Given the description of an element on the screen output the (x, y) to click on. 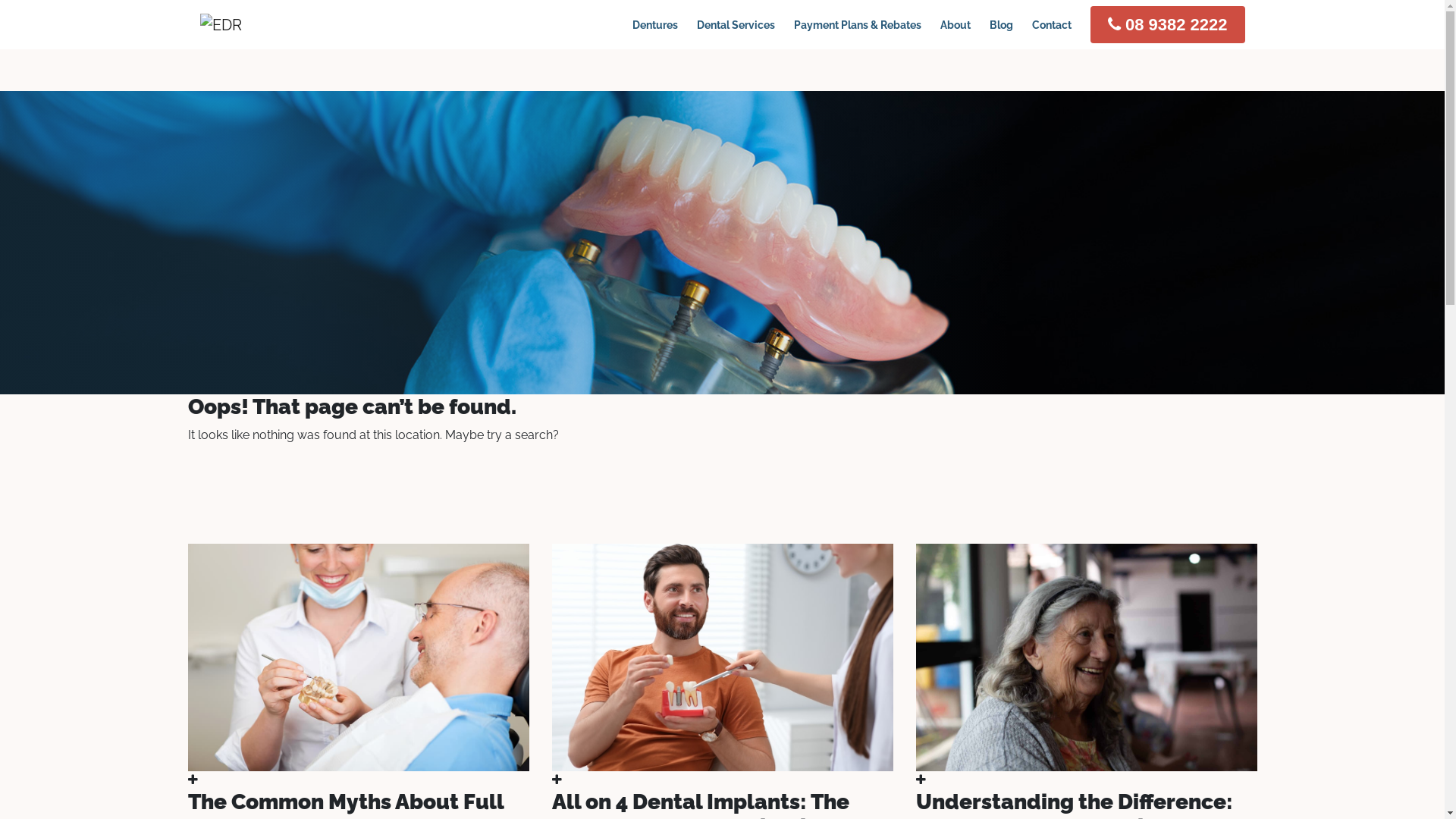
Contact Element type: text (1051, 24)
Payment Plans & Rebates Element type: text (857, 24)
08 9382 2222 Element type: text (1167, 24)
Dentures Element type: text (654, 24)
About Element type: text (955, 24)
Blog Element type: text (1001, 24)
Dental Services Element type: text (735, 24)
